Given the description of an element on the screen output the (x, y) to click on. 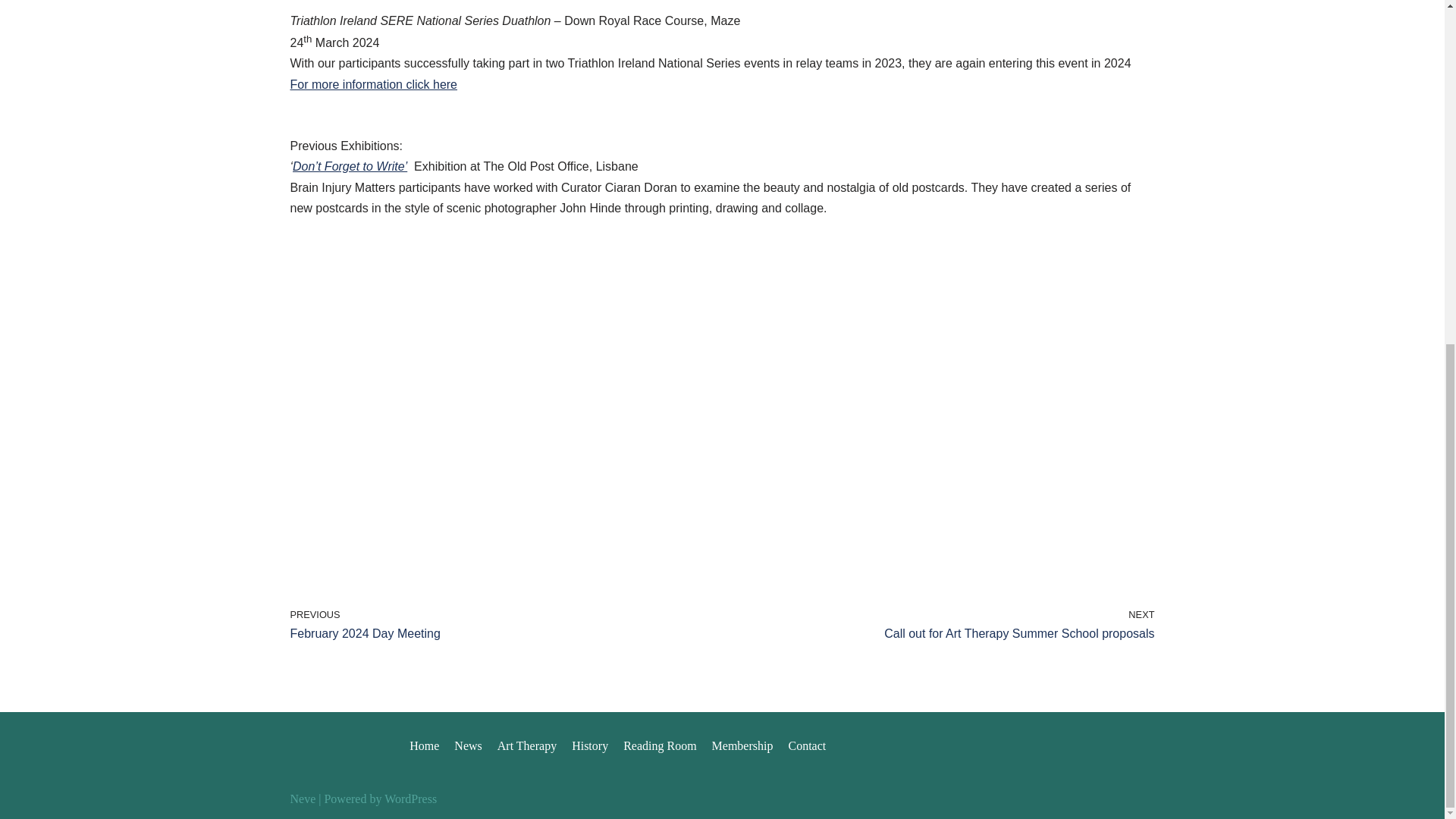
For more information click here (373, 83)
Home (424, 745)
Contact (806, 745)
News (467, 745)
Reading Room (659, 745)
WordPress (410, 798)
Membership (501, 624)
Art Therapy (742, 745)
History (526, 745)
Neve (590, 745)
